Given the description of an element on the screen output the (x, y) to click on. 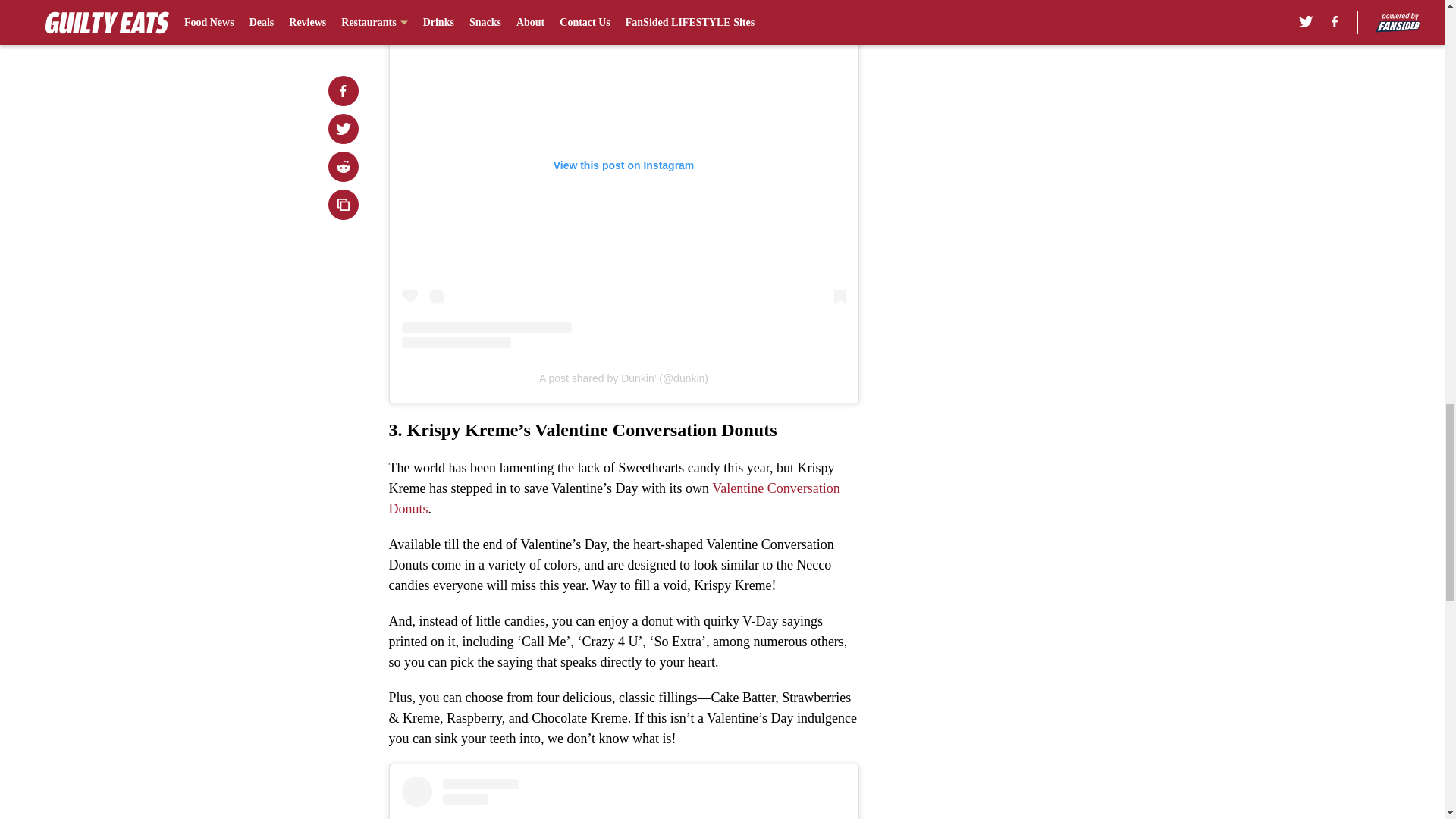
Valentine Conversation Donuts (614, 498)
View this post on Instagram (623, 797)
